Given the description of an element on the screen output the (x, y) to click on. 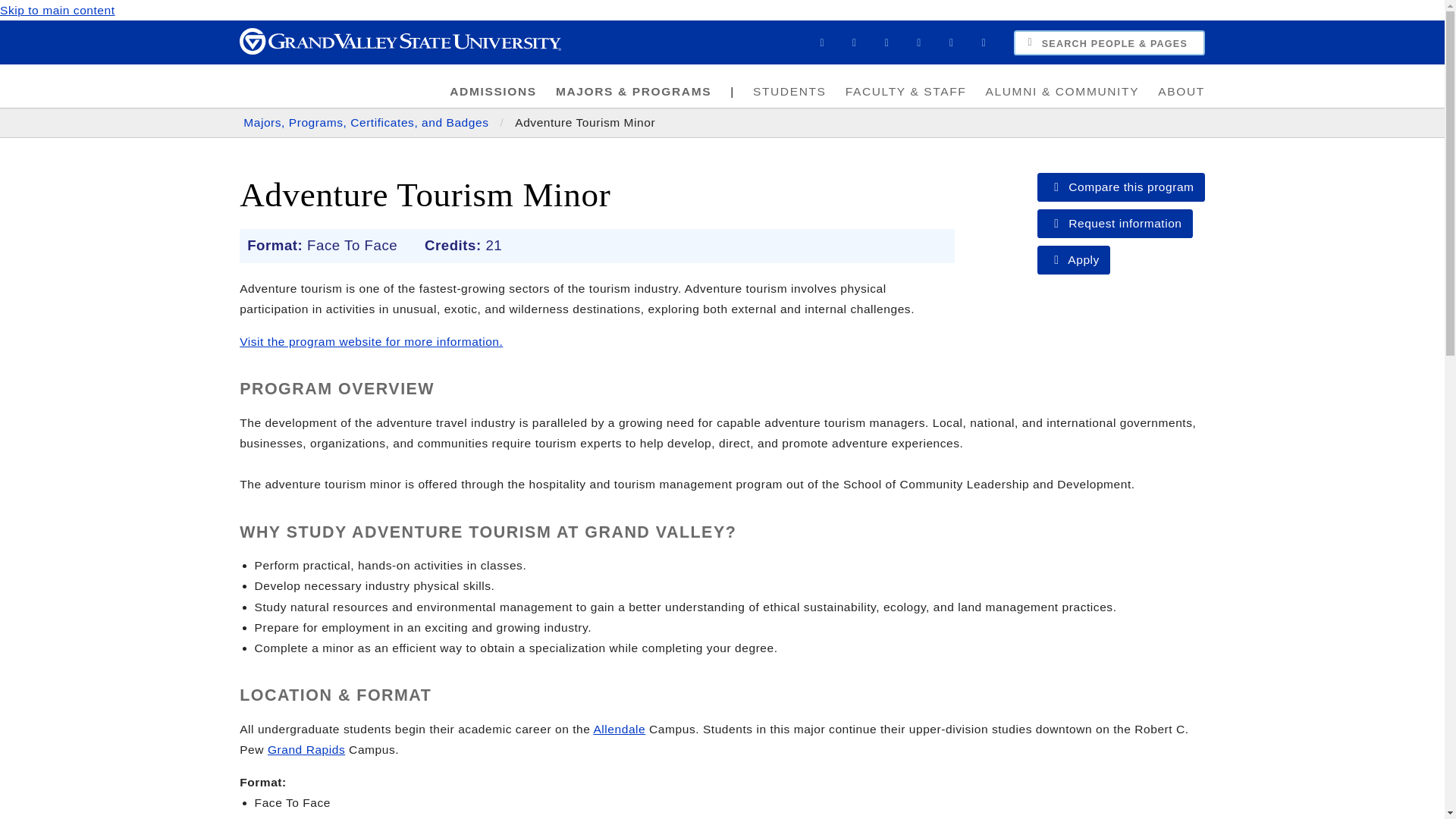
STUDENTS (789, 91)
ABOUT (1181, 91)
Allendale (618, 728)
Student Email (951, 42)
Visit the program website for more information. (371, 341)
Request information (1114, 223)
Banner (854, 42)
Skip to main content (57, 10)
Majors, Programs, Certificates, and Badges (367, 122)
Apply (1072, 259)
Navigate360 (918, 42)
Student Email (951, 42)
Blackboard (821, 42)
Workday (886, 42)
Blackboard (821, 42)
